Given the description of an element on the screen output the (x, y) to click on. 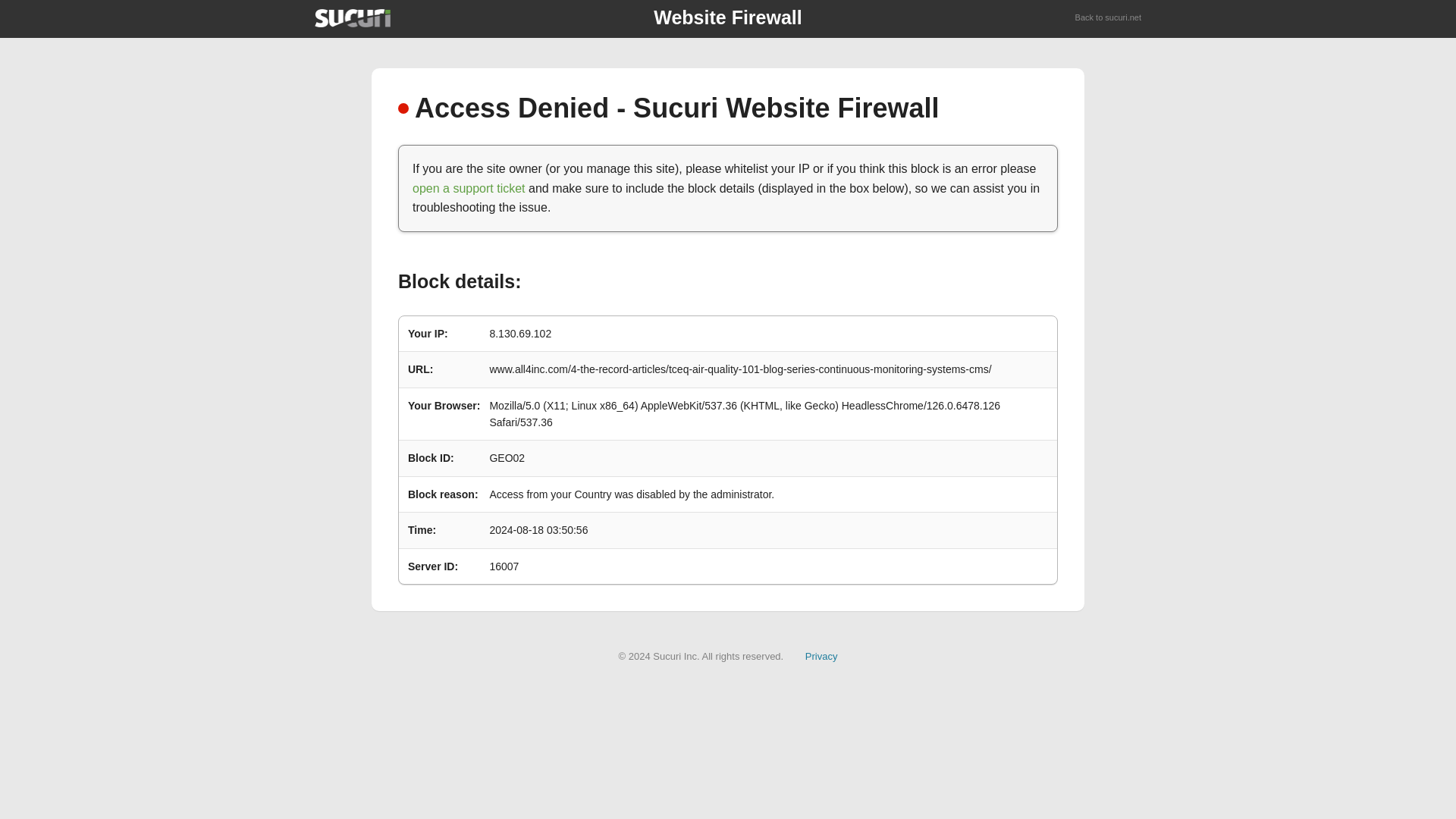
Privacy (821, 655)
Back to sucuri.net (1108, 18)
open a support ticket (468, 187)
